Given the description of an element on the screen output the (x, y) to click on. 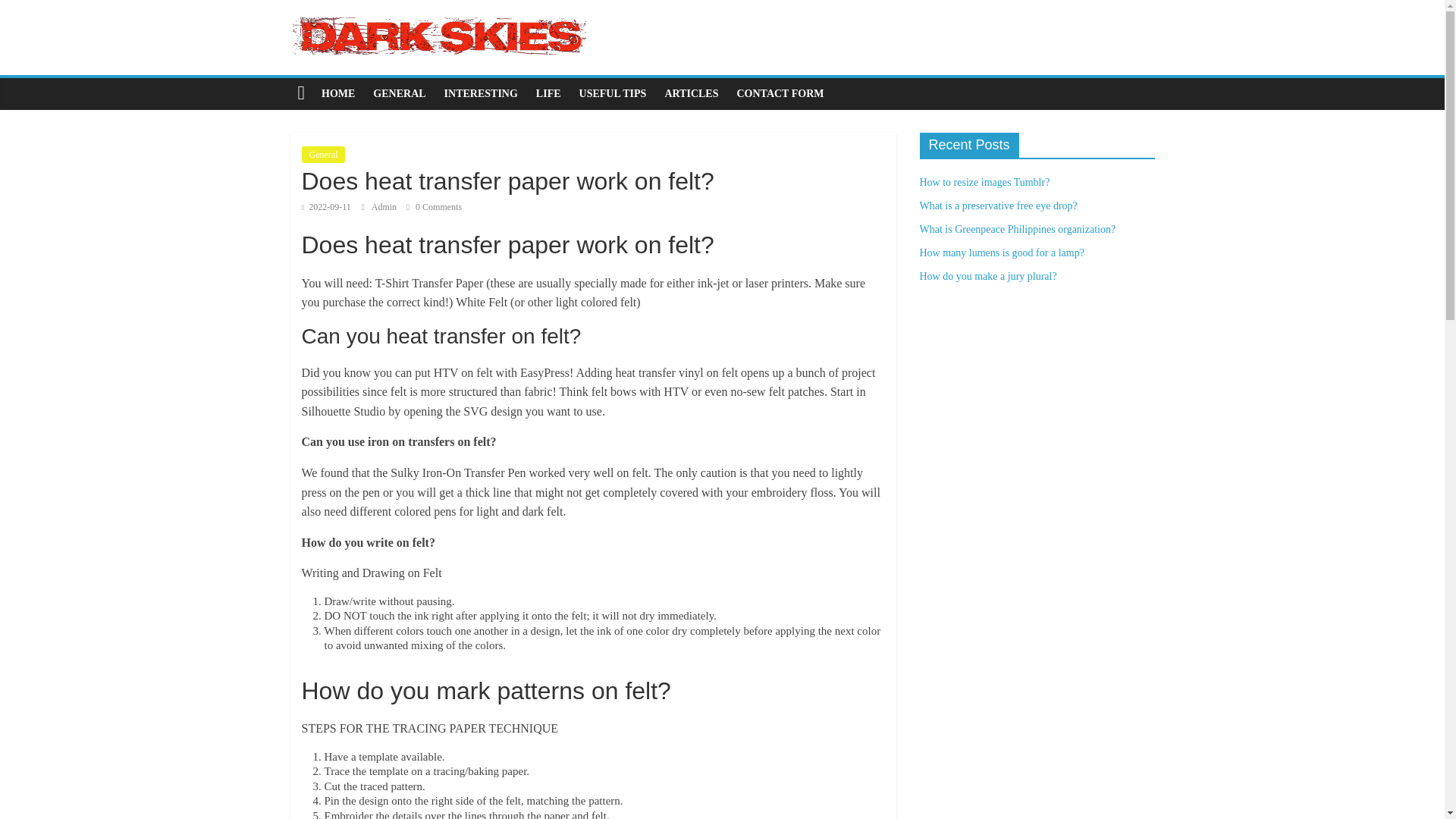
How many lumens is good for a lamp? (1000, 252)
What is Greenpeace Philippines organization? (1016, 229)
LIFE (548, 92)
How to resize images Tumblr? (983, 182)
INTERESTING (481, 92)
Admin (384, 206)
What is a preservative free eye drop? (997, 205)
0 Comments (433, 206)
CONTACT FORM (779, 92)
How do you make a jury plural? (987, 276)
